Given the description of an element on the screen output the (x, y) to click on. 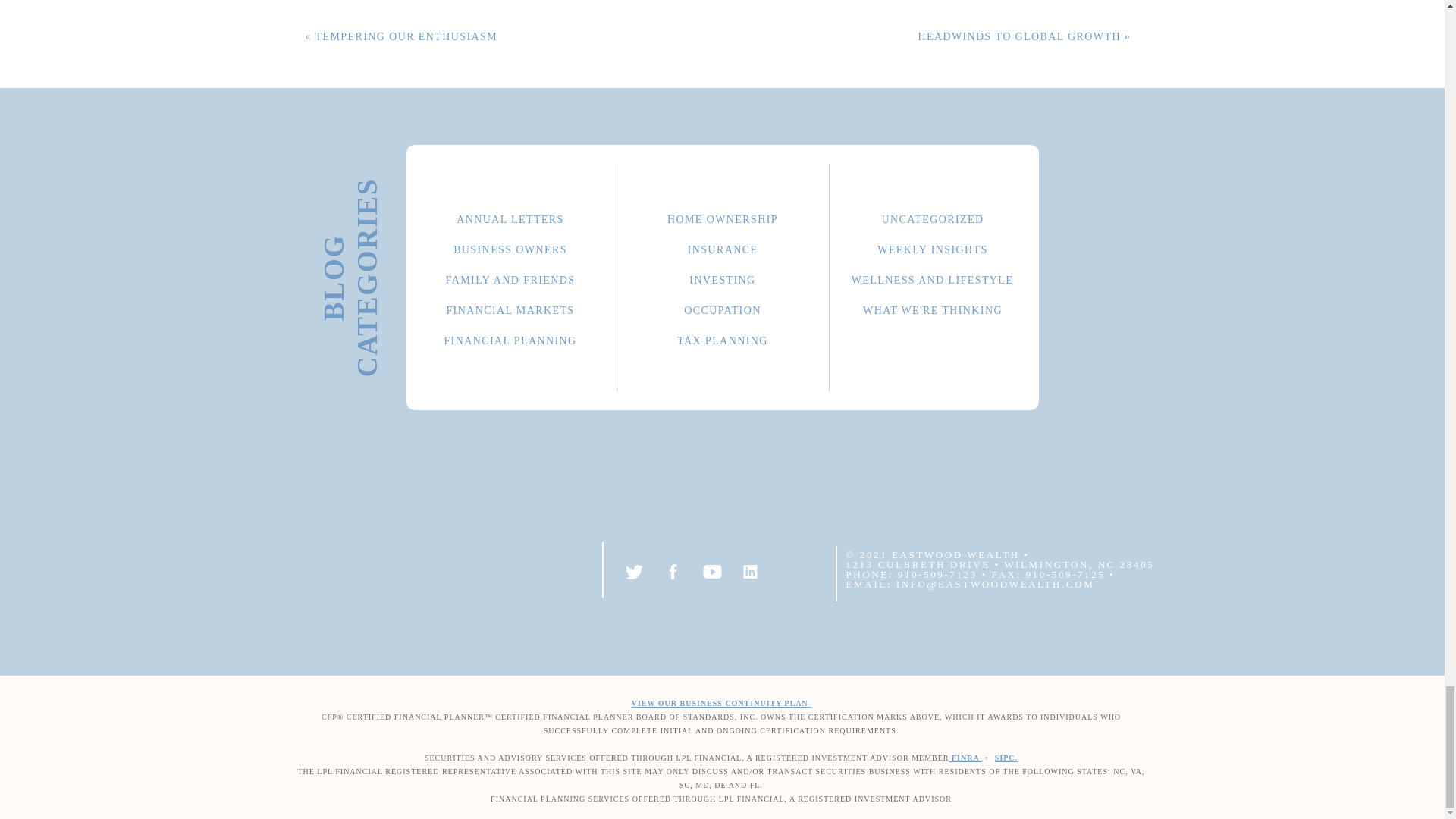
FINANCIAL MARKETS (509, 308)
UNCATEGORIZED (933, 216)
OCCUPATION (721, 308)
WHAT WE'RE THINKING (933, 308)
VIEW OUR BUSINESS CONTINUITY PLAN  (720, 703)
HEADWINDS TO GLOBAL GROWTH (1019, 36)
TAX PLANNING (721, 338)
ANNUAL LETTERS (509, 216)
FINANCIAL PLANNING (509, 338)
INSURANCE (721, 247)
